Given the description of an element on the screen output the (x, y) to click on. 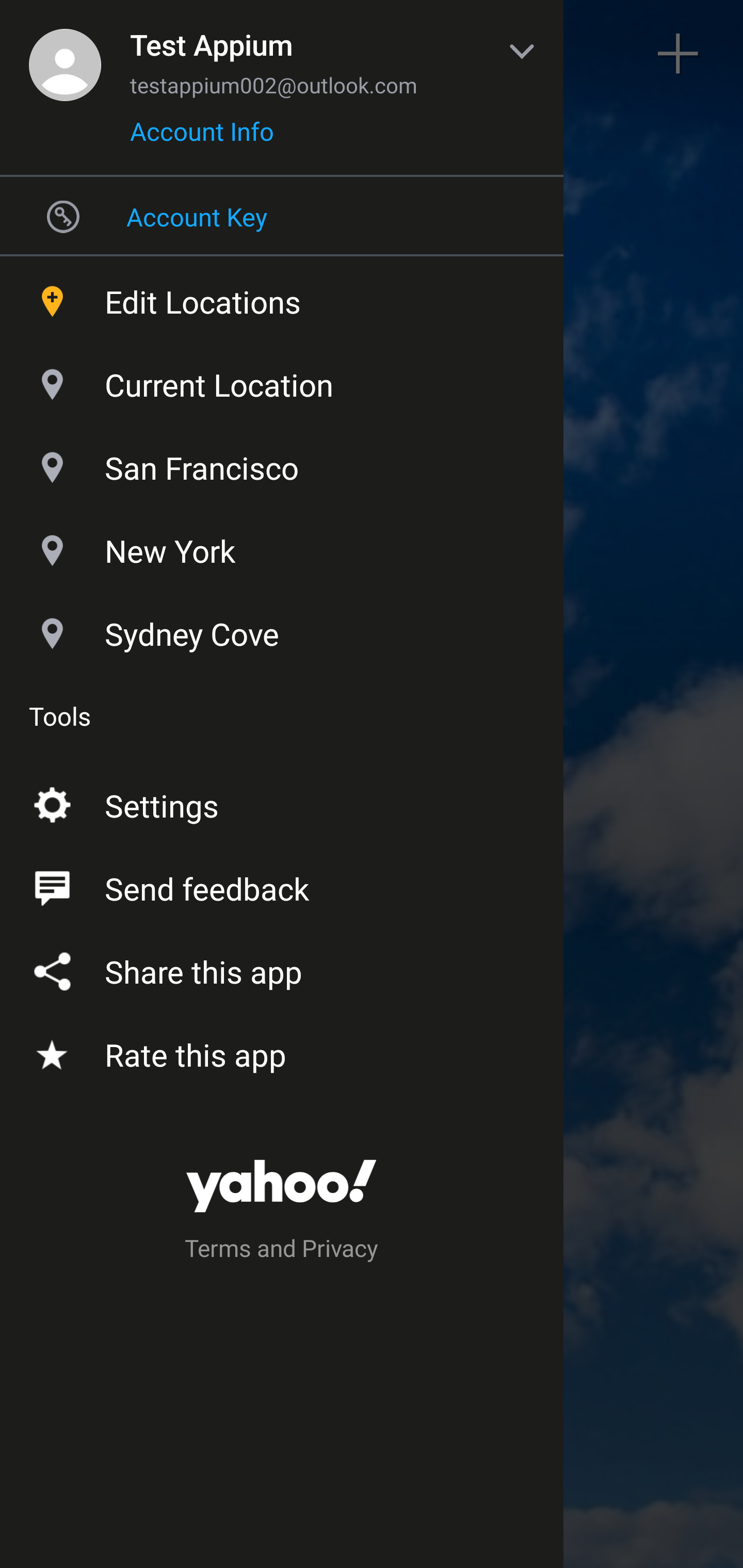
Sidebar (64, 54)
Account Info (202, 137)
Account Key (281, 216)
Edit Locations (281, 296)
Current Location (281, 379)
San Francisco (281, 462)
New York (281, 546)
Sydney Cove (281, 629)
Settings (281, 801)
Send feedback (281, 884)
Share this app (281, 967)
Terms and Privacy Terms and privacy button (281, 1251)
